Given the description of an element on the screen output the (x, y) to click on. 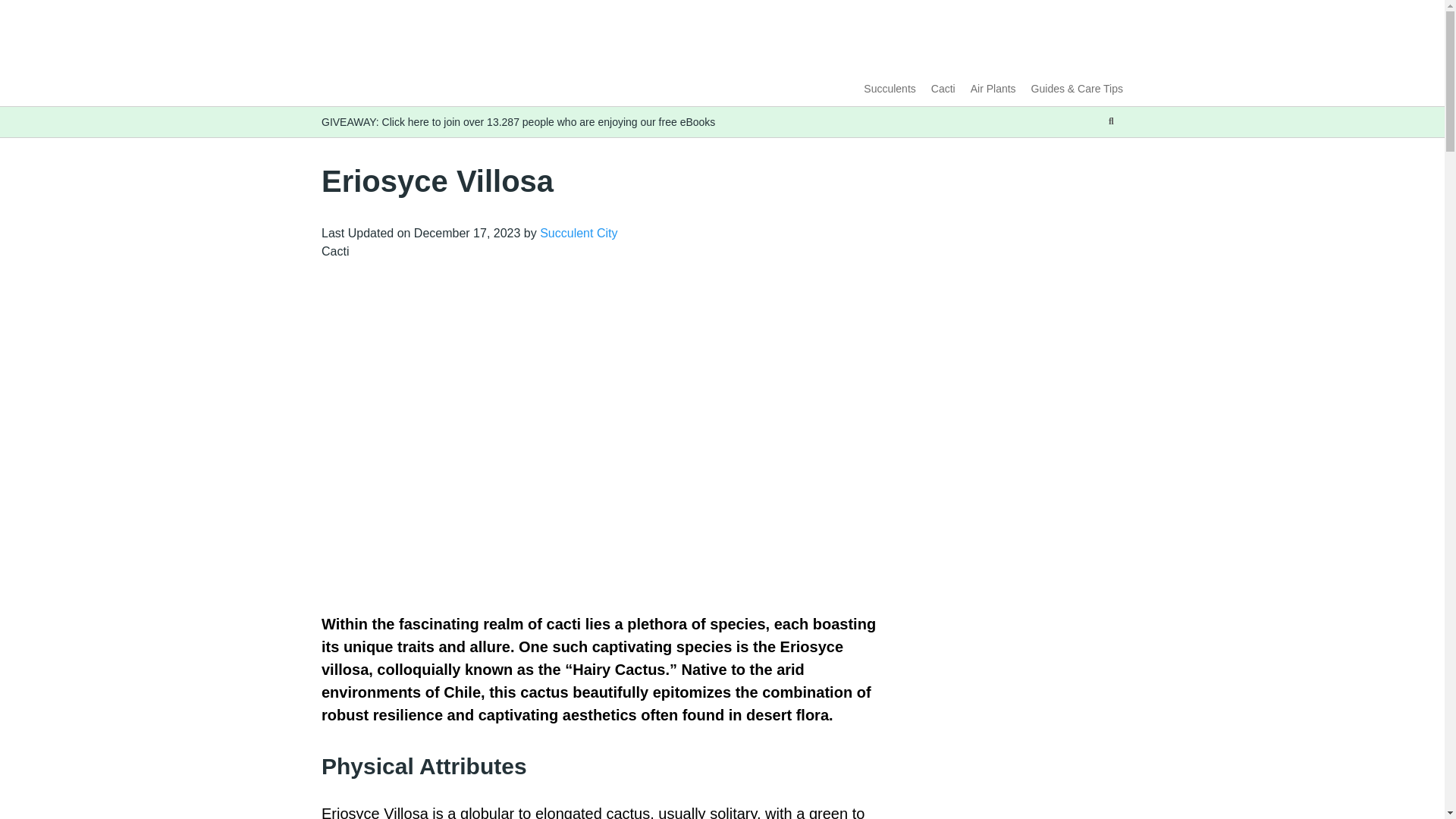
Succulents (889, 89)
Succulent City (578, 232)
Air Plants (993, 89)
Cacti (943, 89)
